Given the description of an element on the screen output the (x, y) to click on. 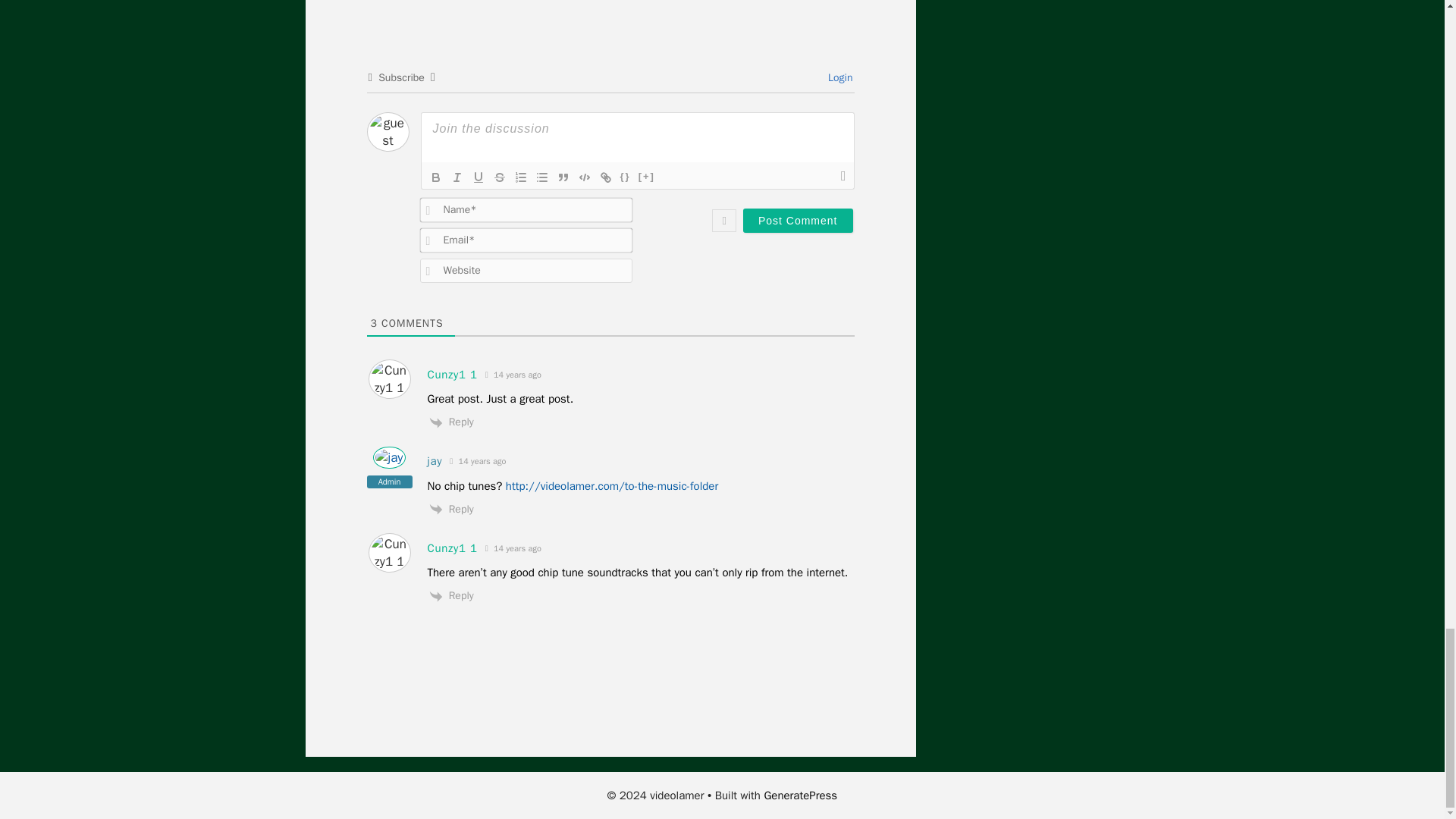
Underline (477, 177)
Login (838, 77)
Post Comment (797, 220)
ordered (520, 177)
Bold (435, 177)
Italic (456, 177)
bullet (541, 177)
